Given the description of an element on the screen output the (x, y) to click on. 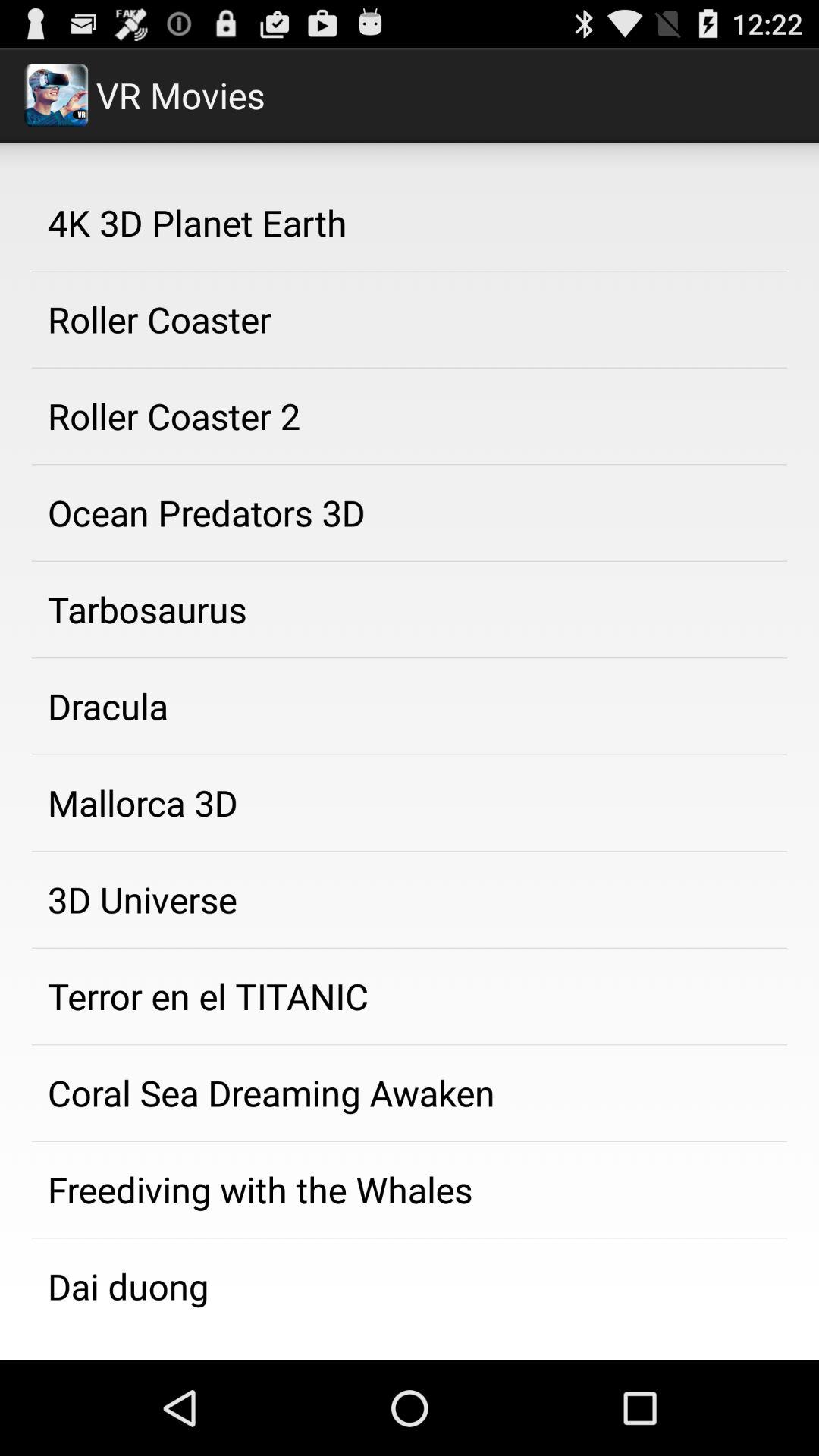
turn off app above the tarbosaurus app (409, 512)
